Given the description of an element on the screen output the (x, y) to click on. 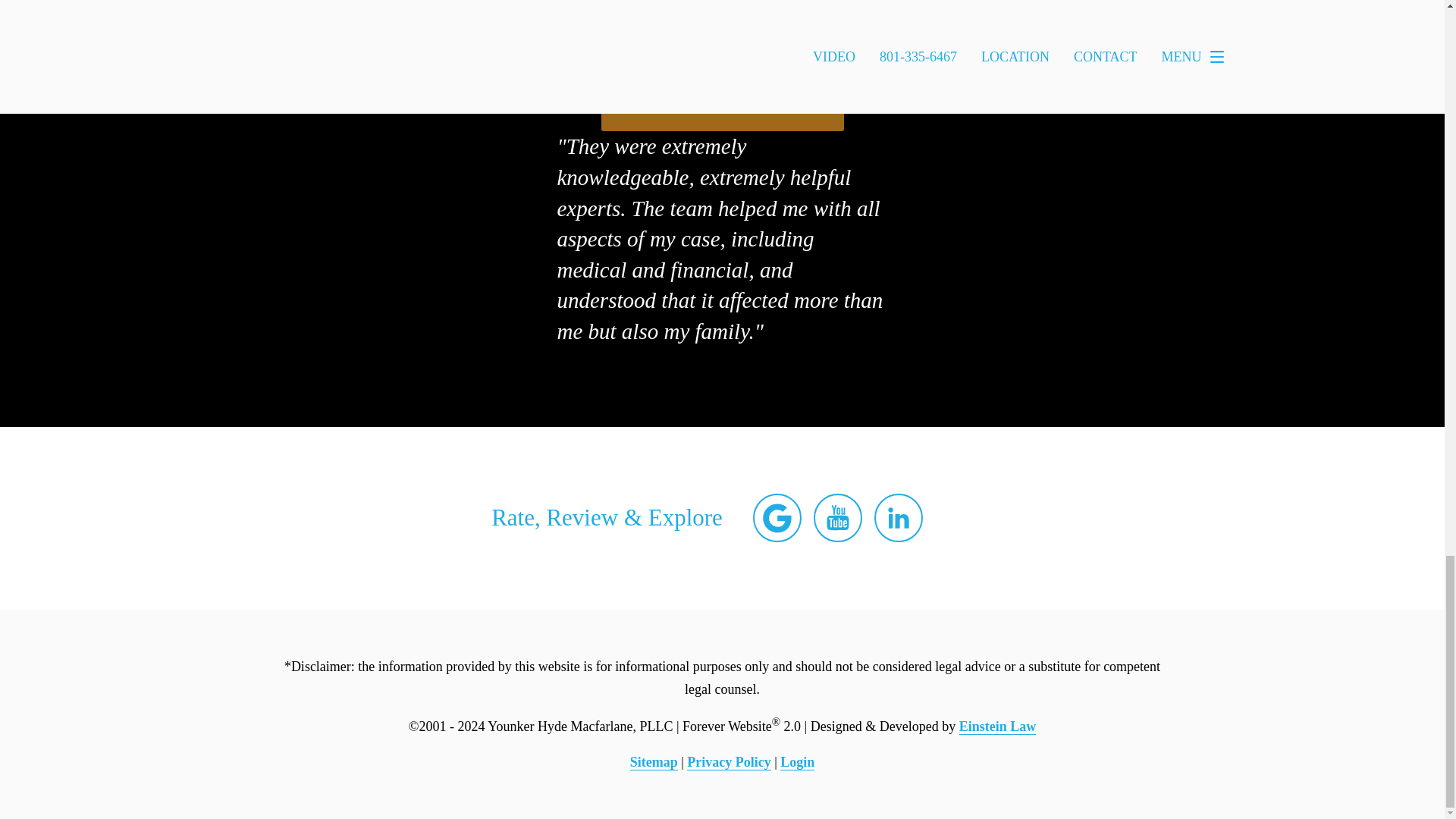
YouTube (837, 517)
LinkedIn (899, 517)
Sitemap (654, 762)
Einstein Law (997, 726)
Send Message (721, 104)
Login (796, 762)
Privacy Policy (728, 762)
Google (777, 517)
